Given the description of an element on the screen output the (x, y) to click on. 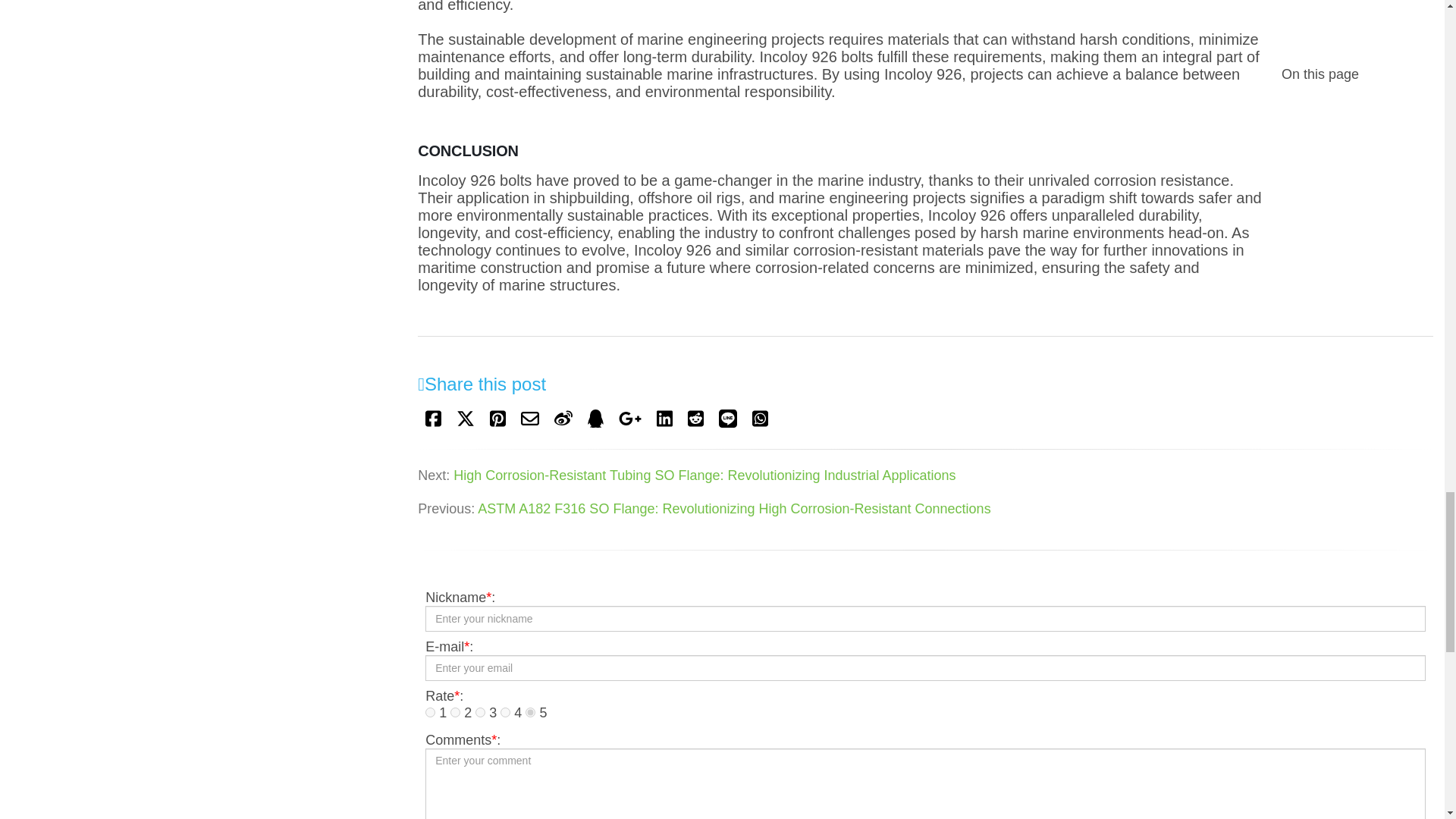
1 (430, 712)
CONCLUSION (840, 150)
2 (454, 712)
4 (505, 712)
5 (530, 712)
3 (480, 712)
